Given the description of an element on the screen output the (x, y) to click on. 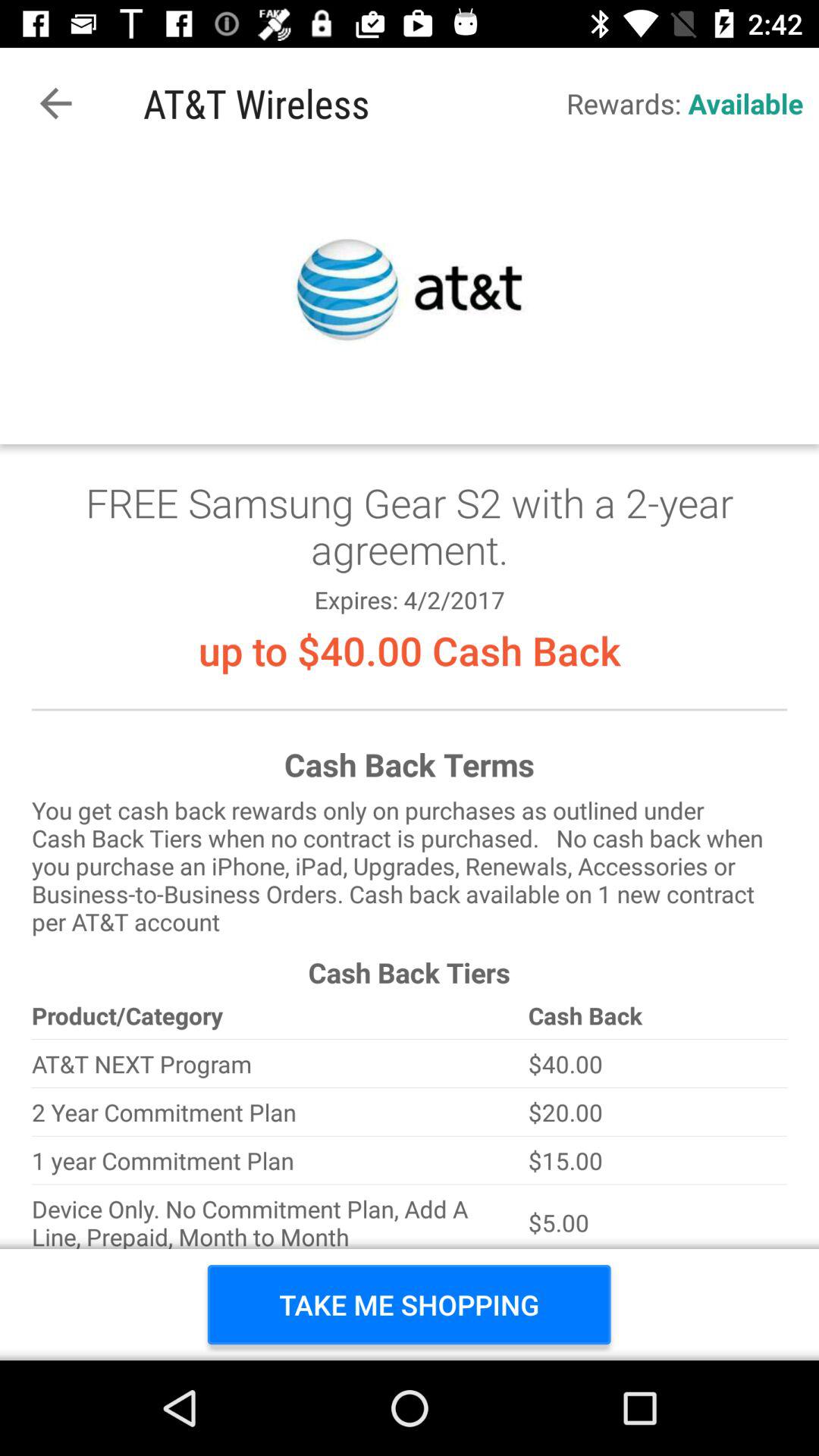
choose the take me shopping item (408, 1304)
